Given the description of an element on the screen output the (x, y) to click on. 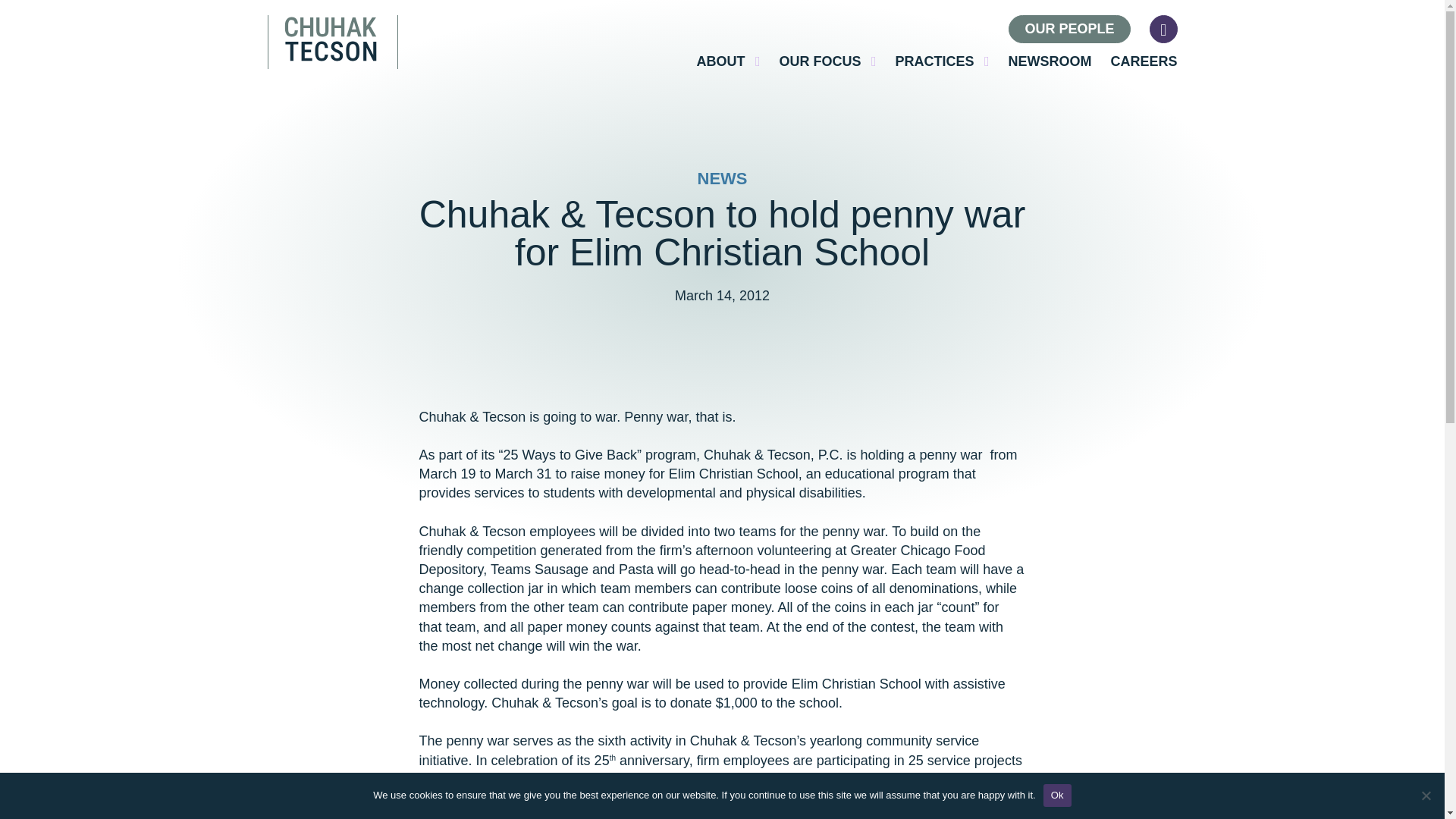
OUR FOCUS (827, 60)
CAREERS (1142, 60)
PRACTICES (941, 60)
No (1425, 795)
OUR PEOPLE (1069, 28)
ABOUT (727, 60)
NEWSROOM (1048, 60)
